Given the description of an element on the screen output the (x, y) to click on. 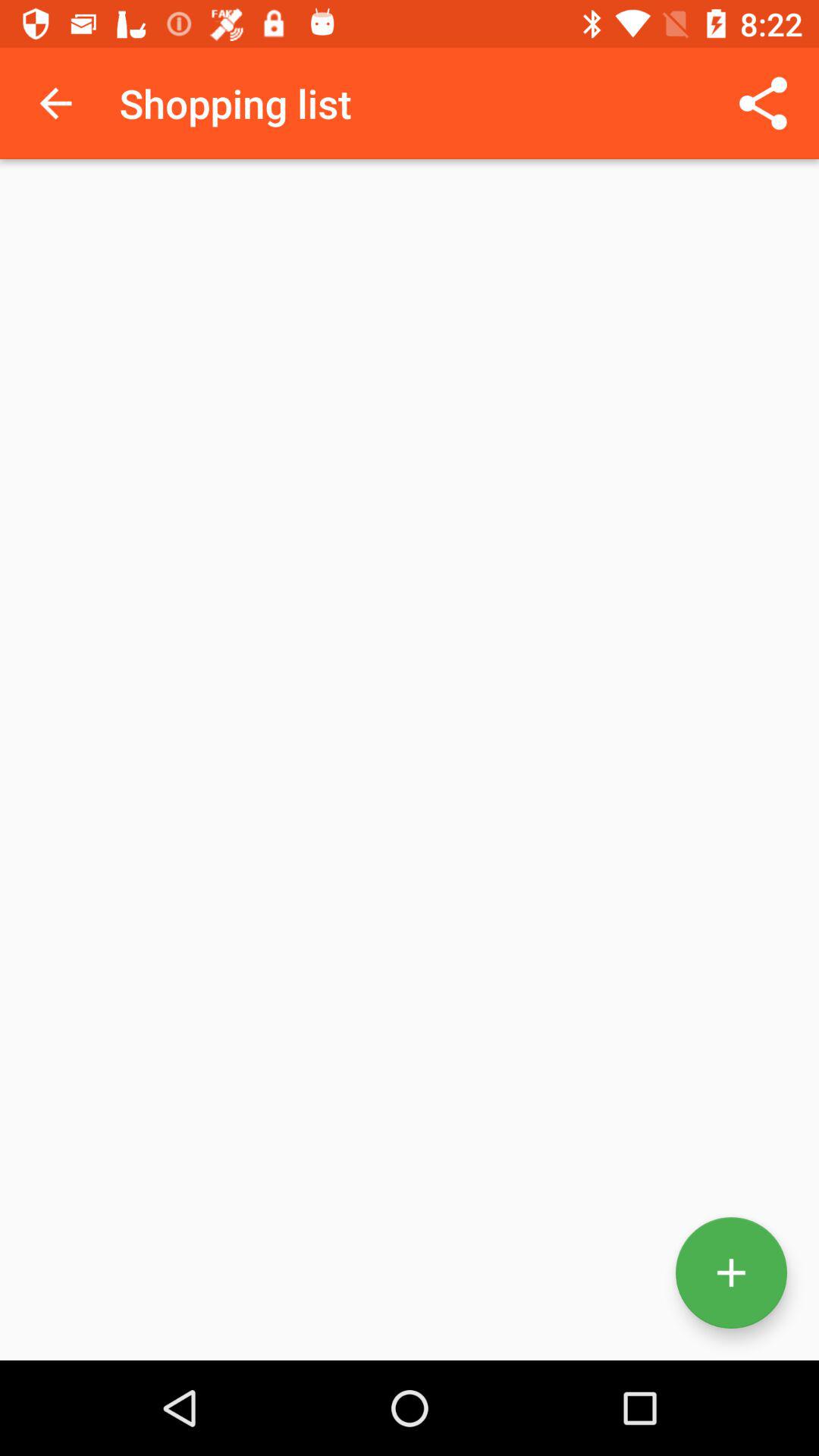
turn off the item to the left of shopping list icon (55, 103)
